Given the description of an element on the screen output the (x, y) to click on. 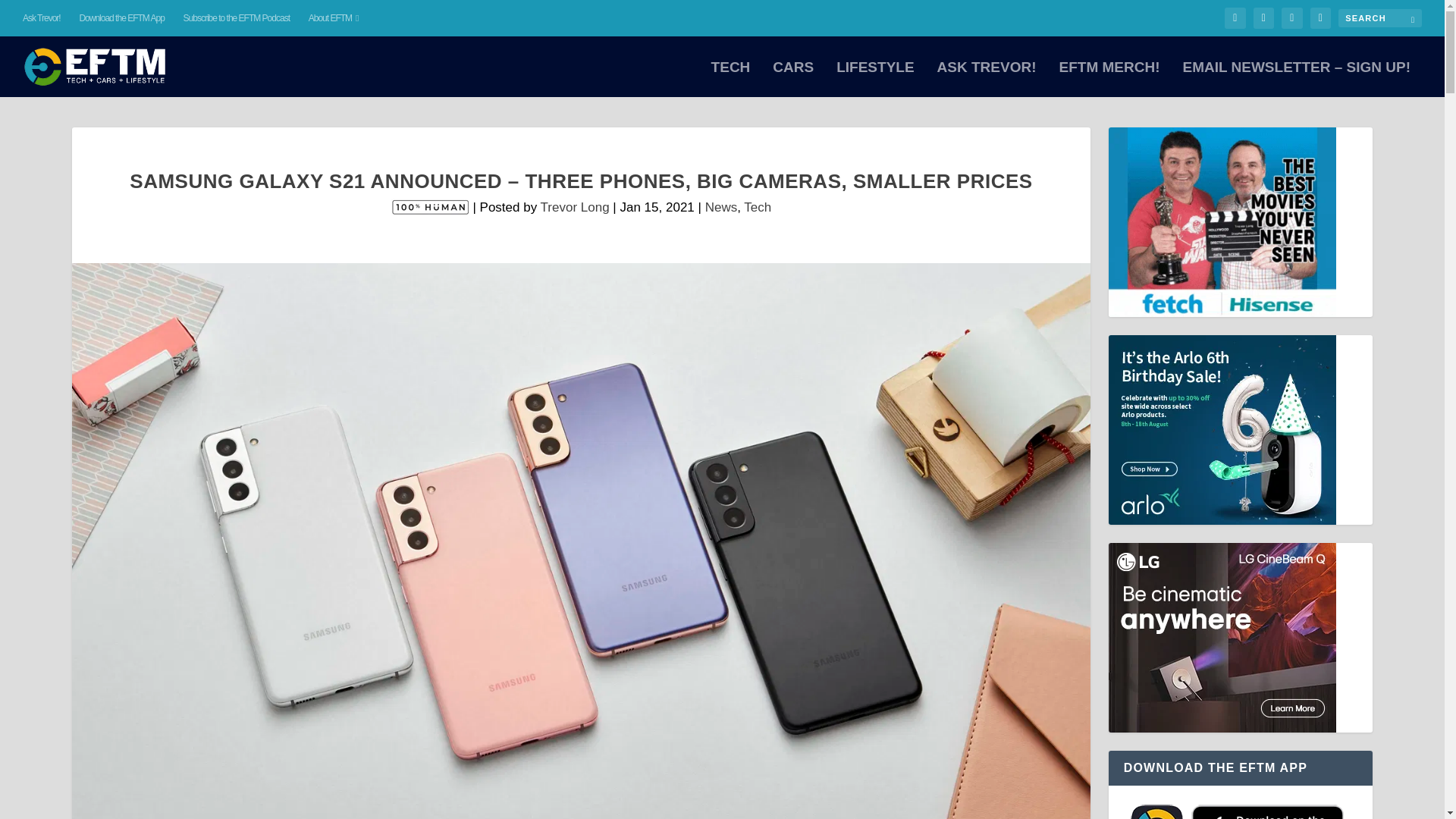
Download the EFTM App (120, 18)
Search for: (1380, 18)
CARS (793, 79)
TECH (731, 79)
Subscribe to the EFTM Podcast (236, 18)
Ask Trevor! (42, 18)
Trevor Long (575, 206)
Posts by Trevor Long (575, 206)
Tech (757, 206)
EFTM MERCH! (1108, 79)
